Given the description of an element on the screen output the (x, y) to click on. 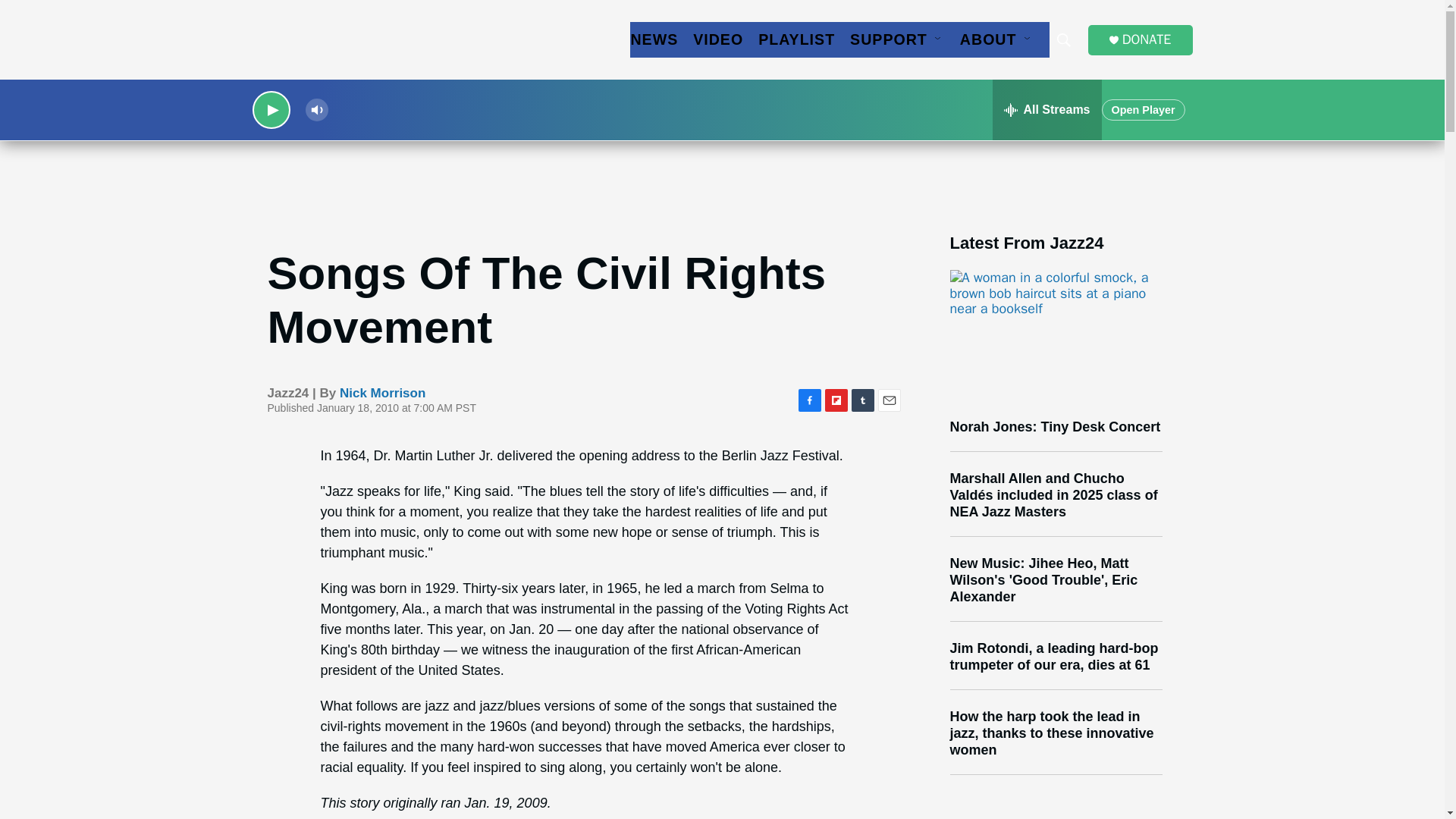
PLAYLIST (796, 39)
SUPPORT (888, 39)
VIDEO (717, 39)
ABOUT (987, 39)
NEWS (654, 39)
